Given the description of an element on the screen output the (x, y) to click on. 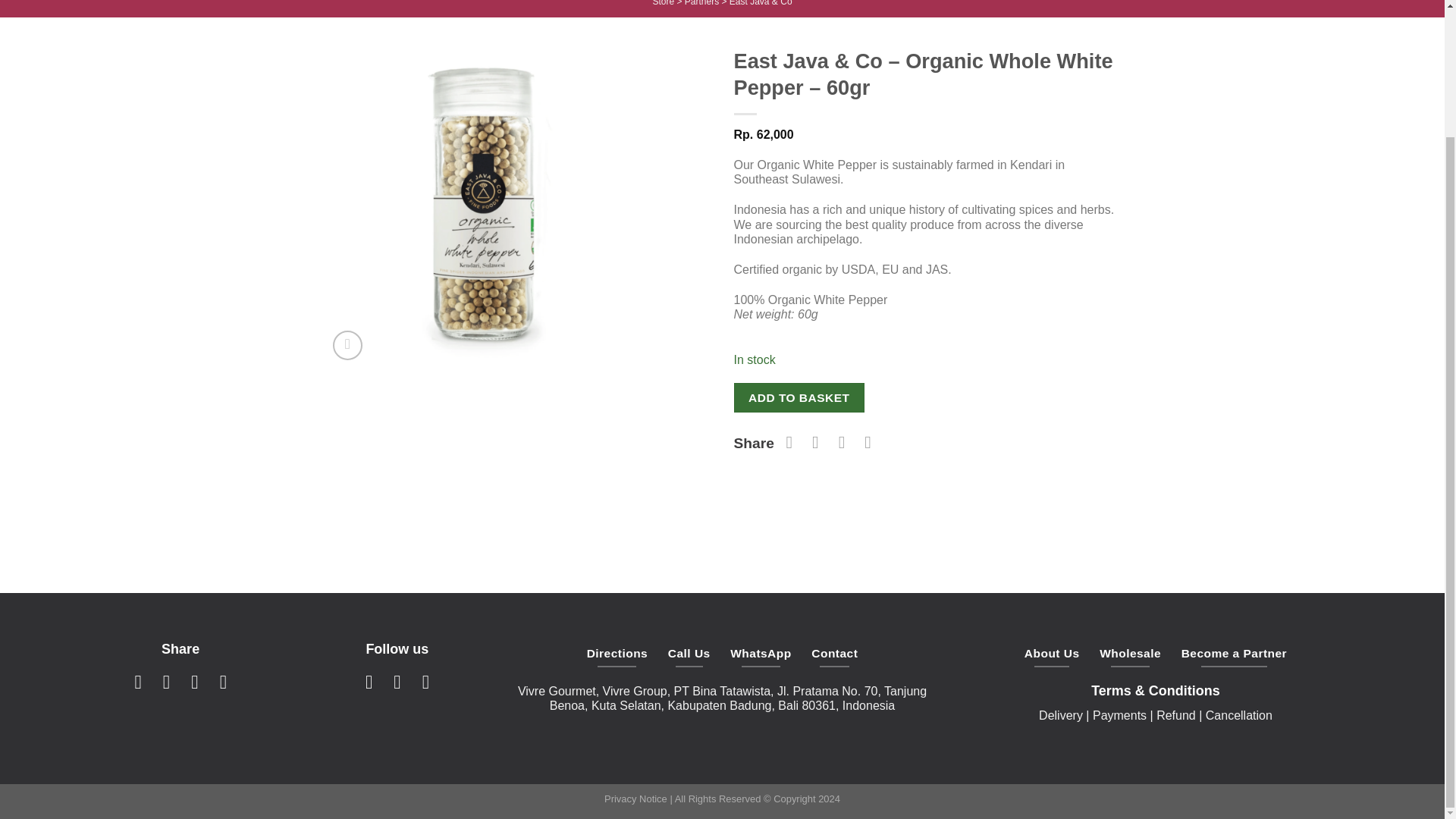
Share on LinkedIn (223, 681)
Zoom (347, 345)
Share on Twitter (166, 681)
Share on Facebook (138, 681)
Pin on Pinterest (193, 681)
Follow on Instagram (396, 681)
Follow on Facebook (368, 681)
